Given the description of an element on the screen output the (x, y) to click on. 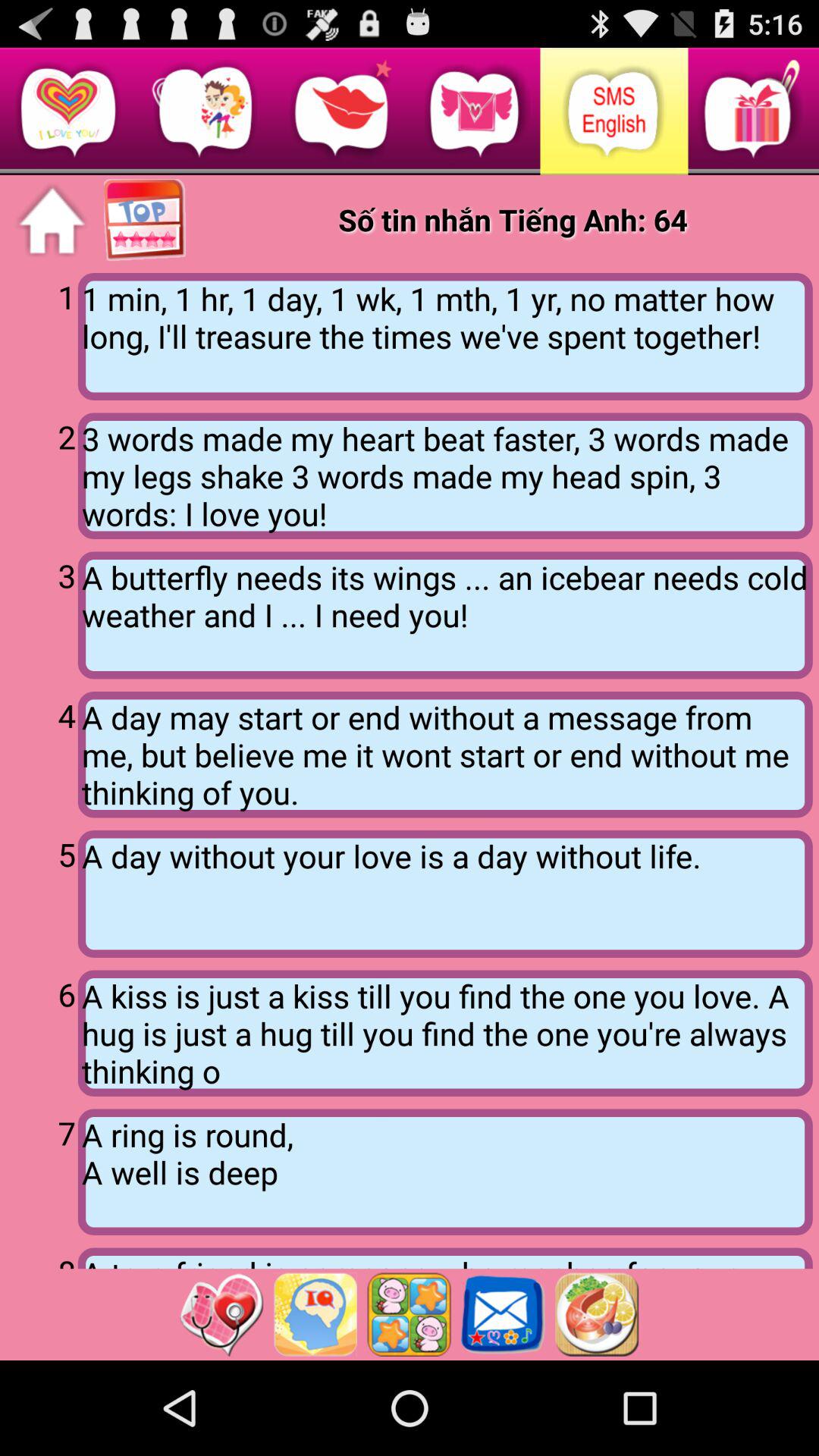
click on left side next to home button (145, 220)
